Given the description of an element on the screen output the (x, y) to click on. 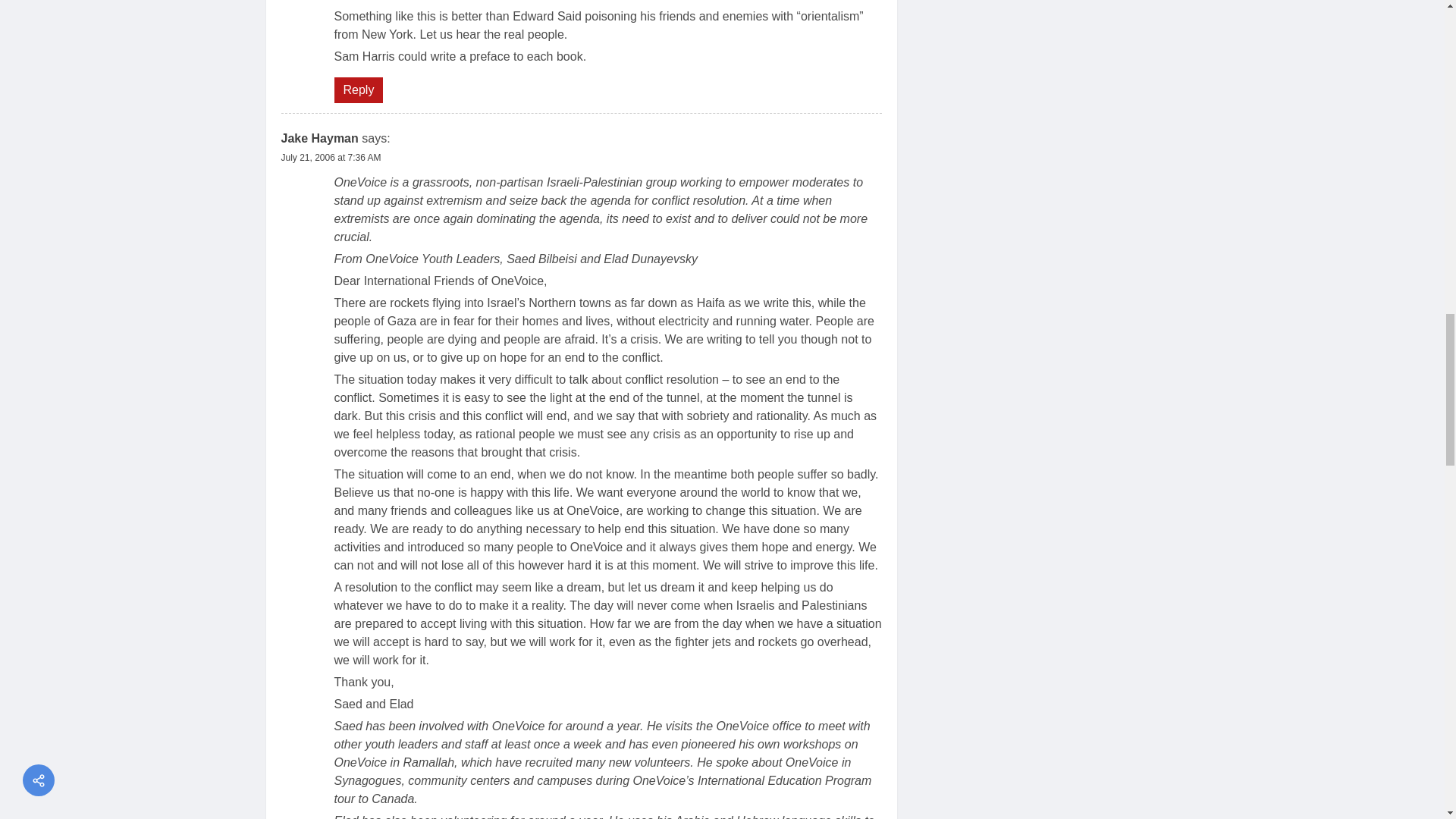
Reply (357, 89)
